Given the description of an element on the screen output the (x, y) to click on. 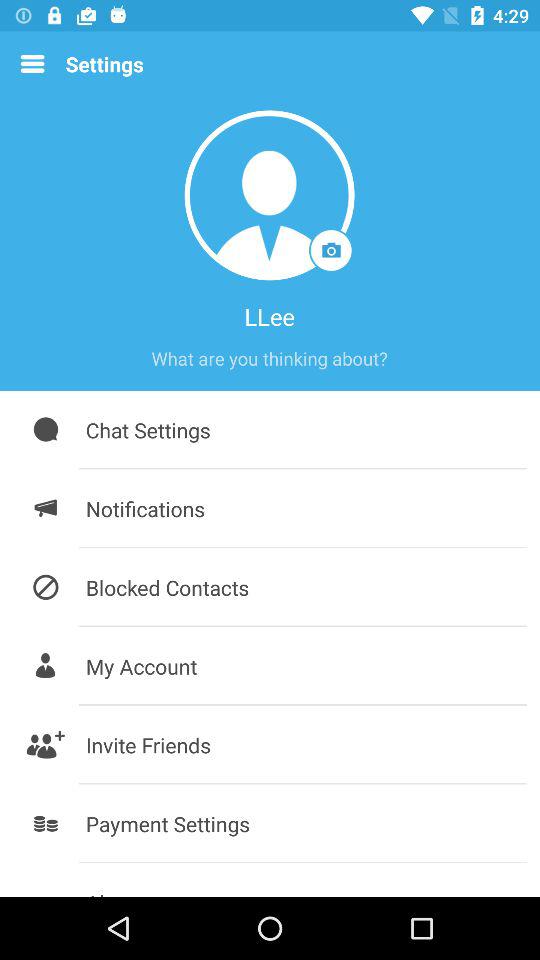
tap the icon above the llee (269, 195)
